Given the description of an element on the screen output the (x, y) to click on. 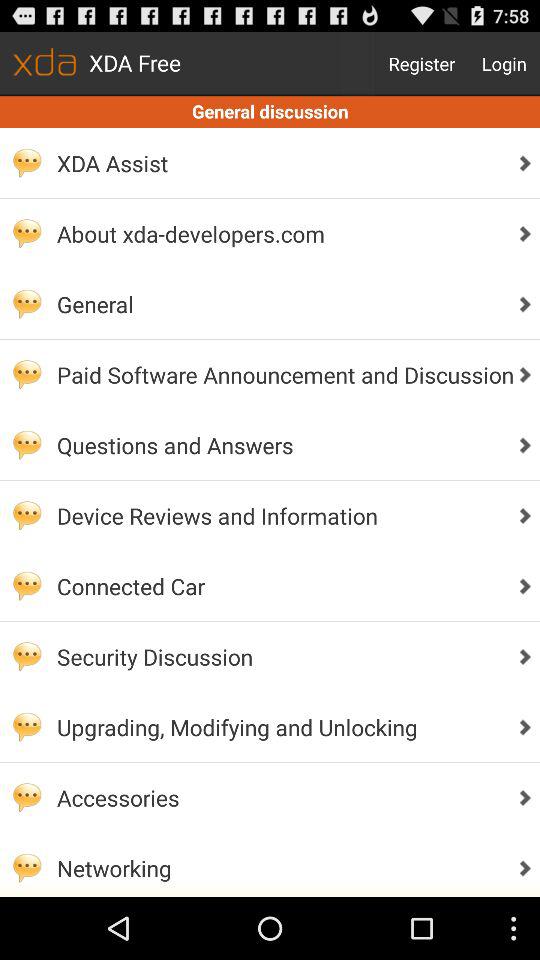
click icon to the left of login item (421, 63)
